Given the description of an element on the screen output the (x, y) to click on. 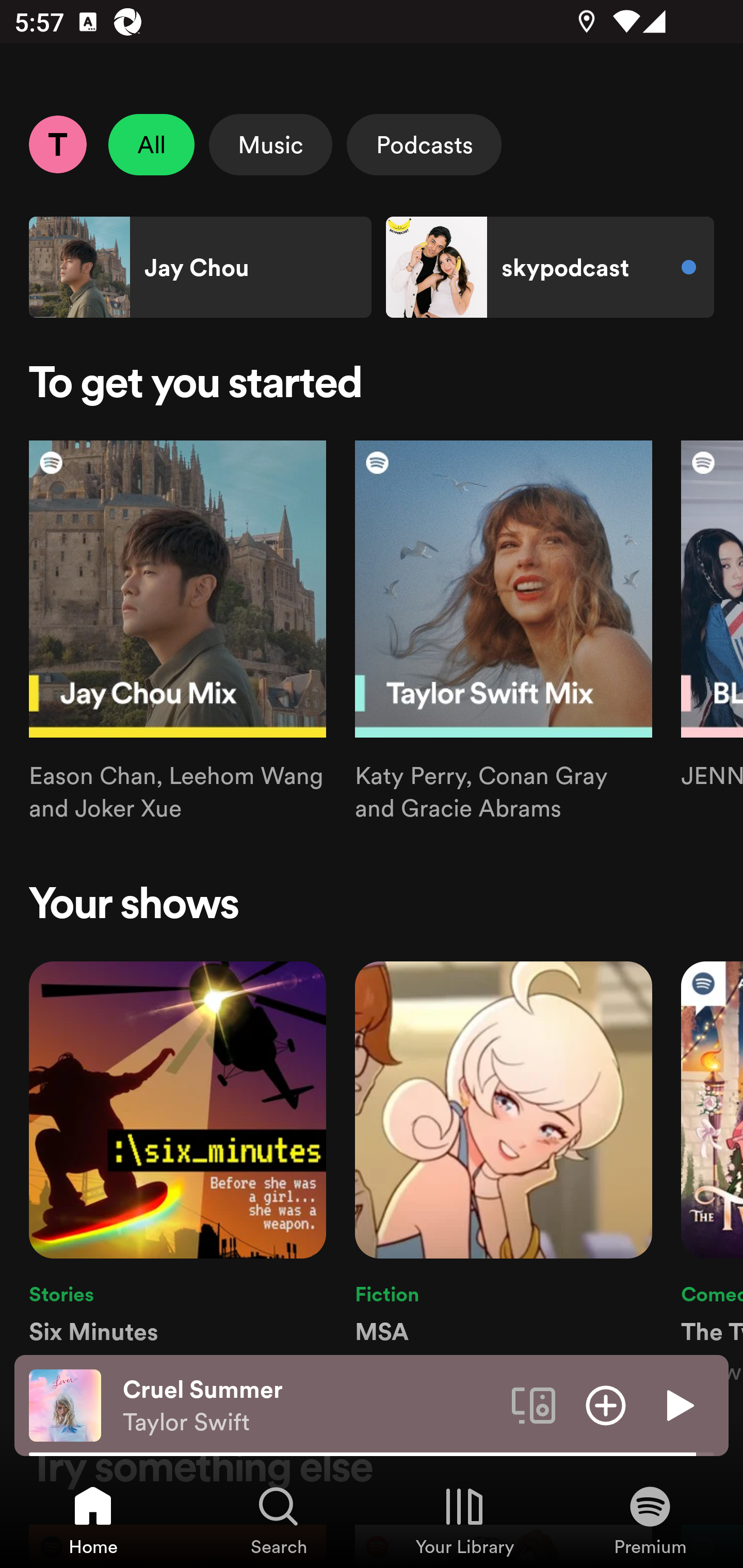
Profile (57, 144)
All Unselect All (151, 144)
Music Select Music (270, 144)
Podcasts Select Podcasts (423, 144)
Jay Chou Shortcut Jay Chou (199, 267)
skypodcast Shortcut skypodcast New content (549, 267)
Stories Six Minutes Show • GZM Shows (177, 1174)
Fiction MSA  Show • My Story Animated (503, 1174)
Cruel Summer Taylor Swift (309, 1405)
The cover art of the currently playing track (64, 1404)
Connect to a device. Opens the devices menu (533, 1404)
Add item (605, 1404)
Play (677, 1404)
Home, Tab 1 of 4 Home Home (92, 1519)
Search, Tab 2 of 4 Search Search (278, 1519)
Your Library, Tab 3 of 4 Your Library Your Library (464, 1519)
Premium, Tab 4 of 4 Premium Premium (650, 1519)
